Given the description of an element on the screen output the (x, y) to click on. 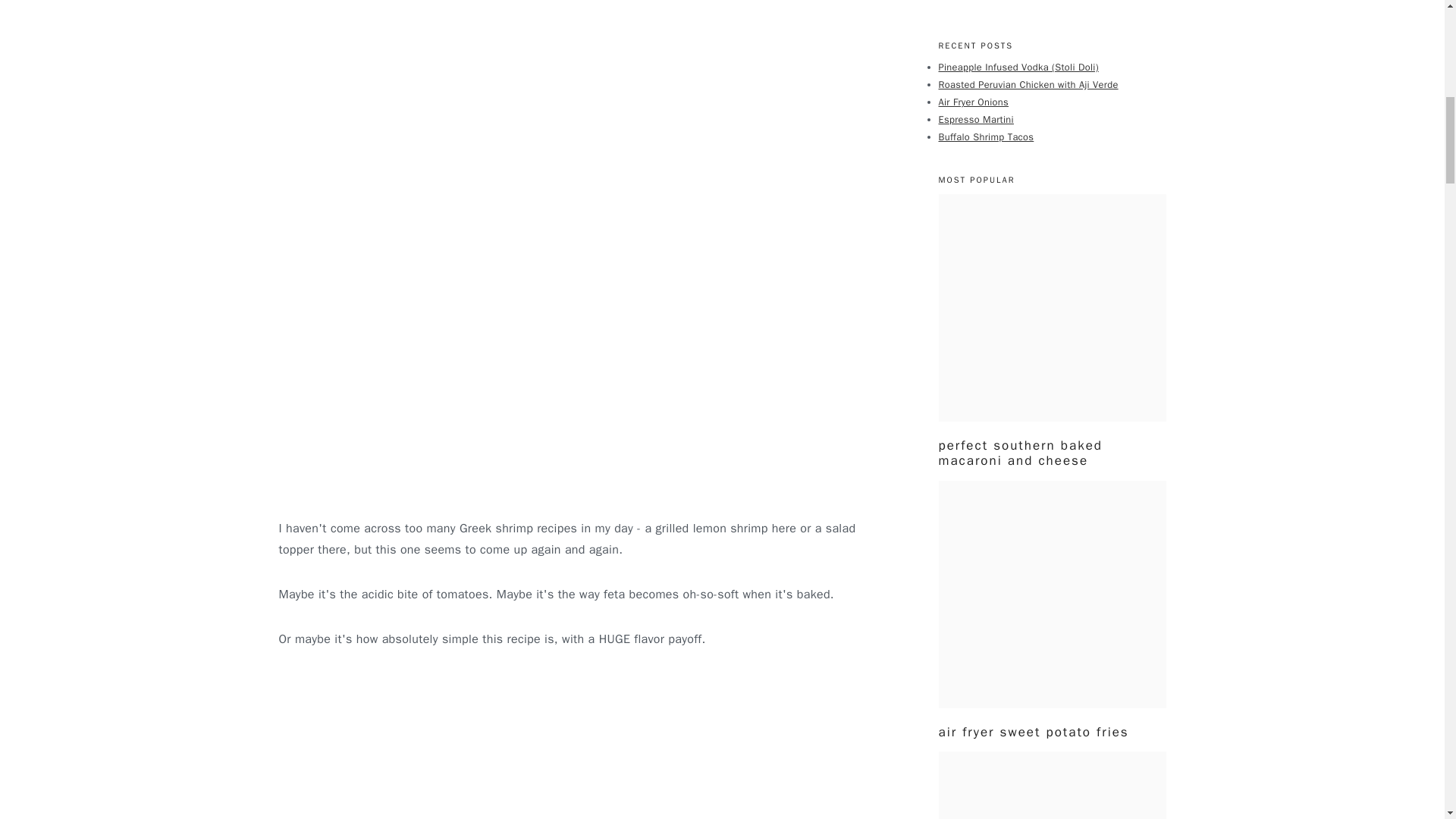
Baked Chicken Leg Quarters (1052, 785)
Air Fryer Sweet Potato Fries (1052, 594)
Perfect Southern Baked Macaroni and Cheese (1052, 307)
